Given the description of an element on the screen output the (x, y) to click on. 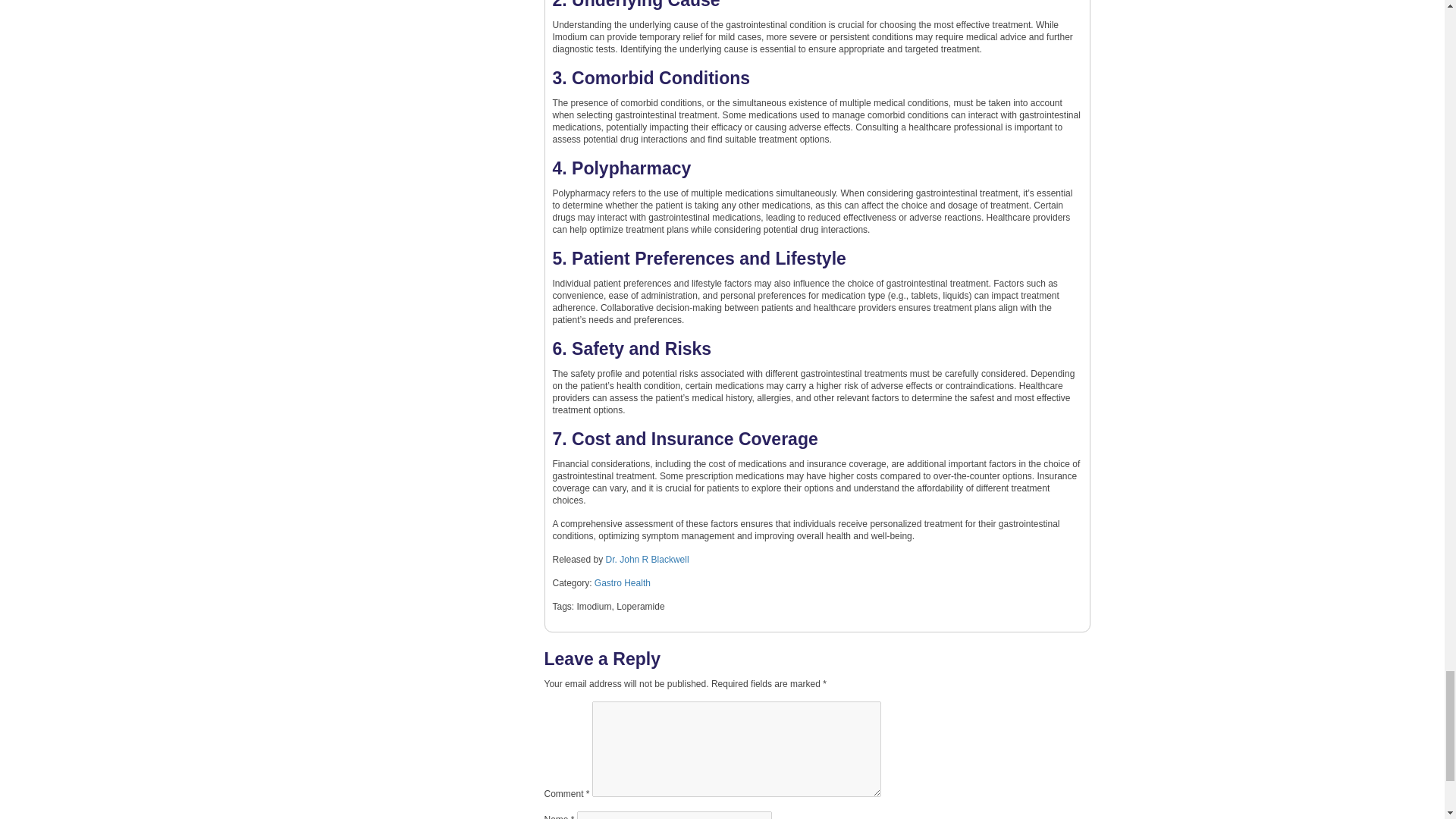
Posts by Dr. John R Blackwell (646, 559)
